Given the description of an element on the screen output the (x, y) to click on. 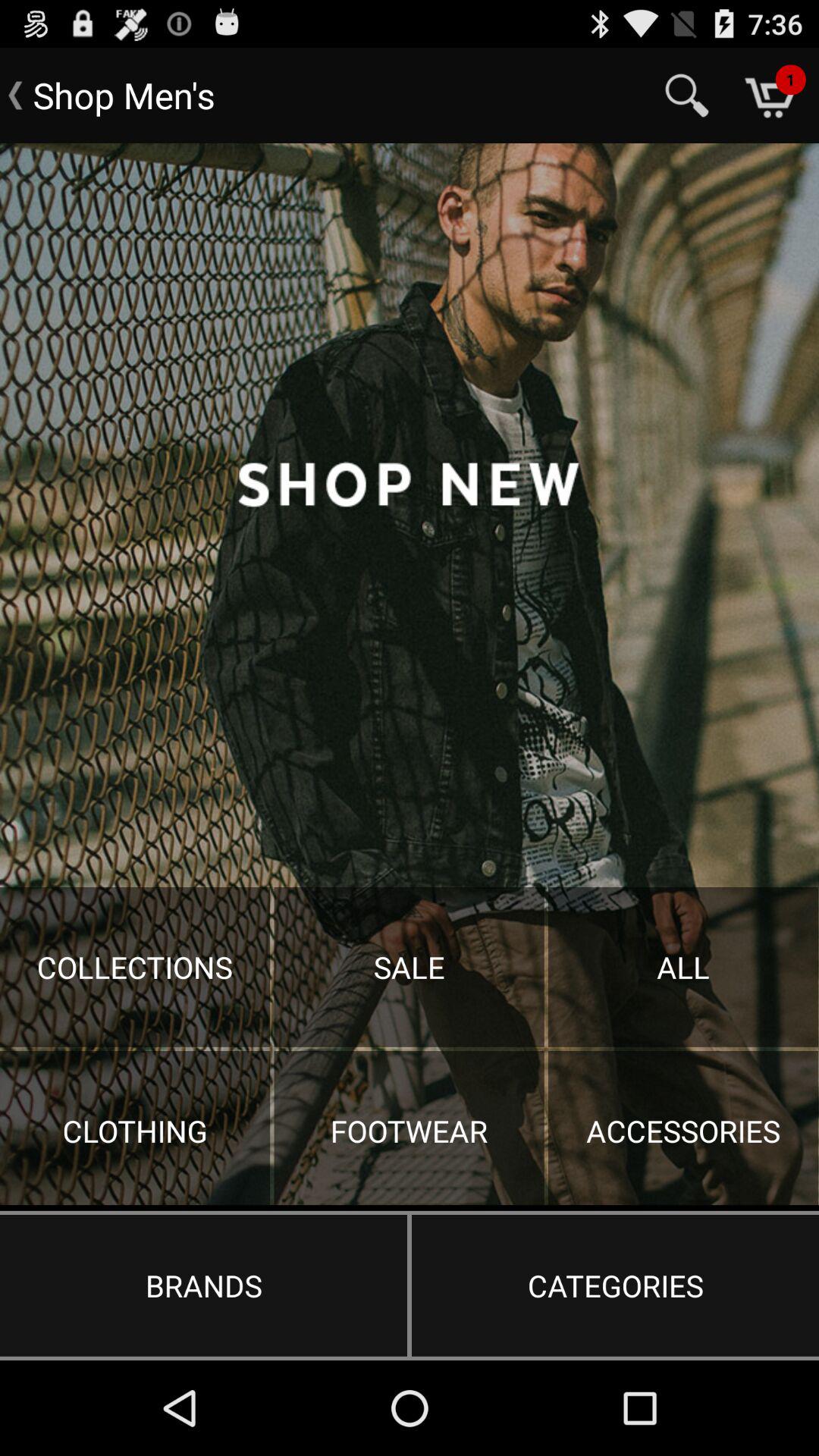
launch the button next to brands item (615, 1285)
